Given the description of an element on the screen output the (x, y) to click on. 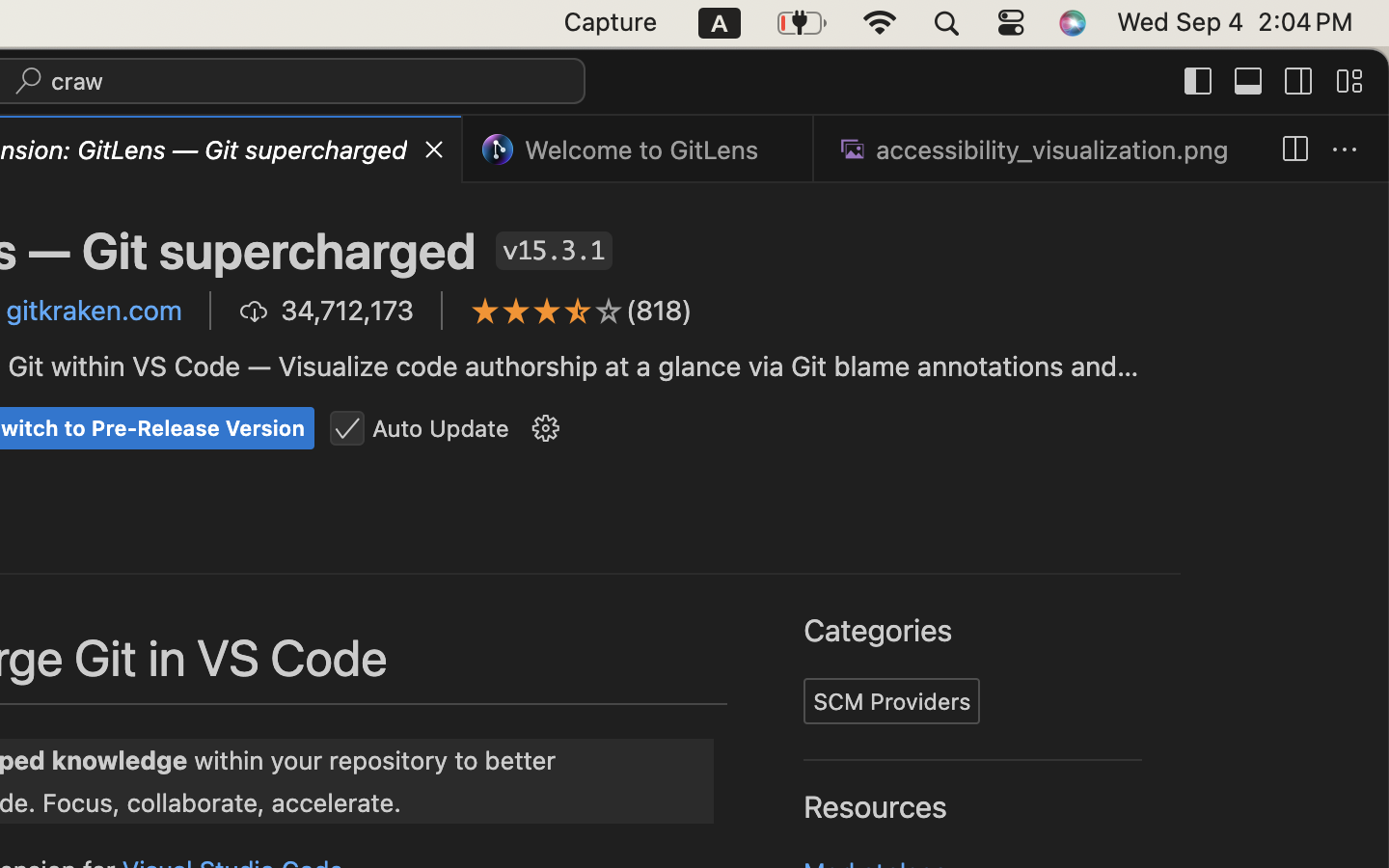
Get Started Element type: AXStaticText (798, 367)
craw Element type: AXStaticText (78, 80)
Unlock the full power of GitLens Element type: AXStaticText (889, 797)
Release notes Element type: AXStaticText (1268, 284)
 Element type: AXStaticText (609, 310)
